Given the description of an element on the screen output the (x, y) to click on. 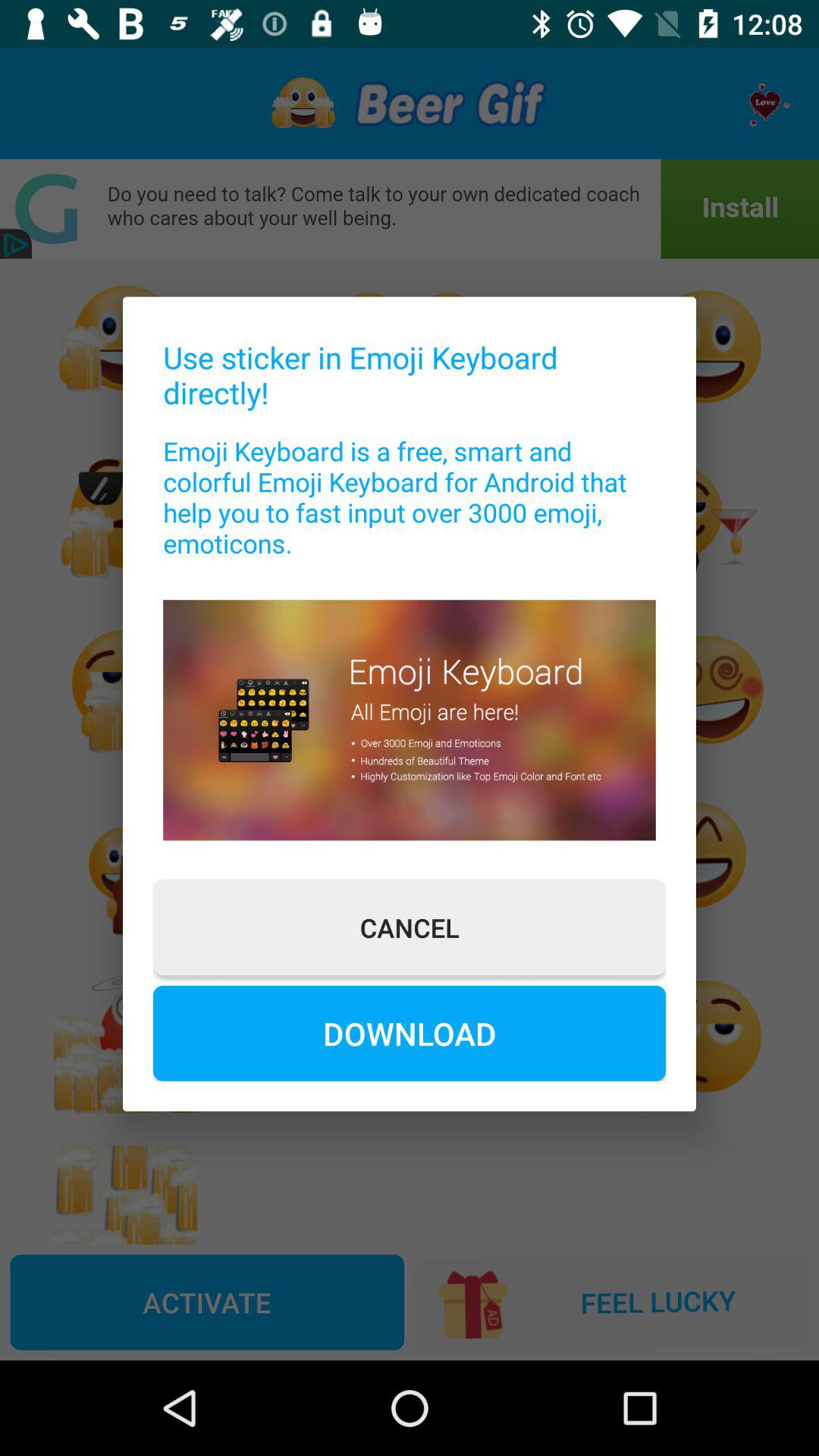
select the download button (409, 1033)
